Given the description of an element on the screen output the (x, y) to click on. 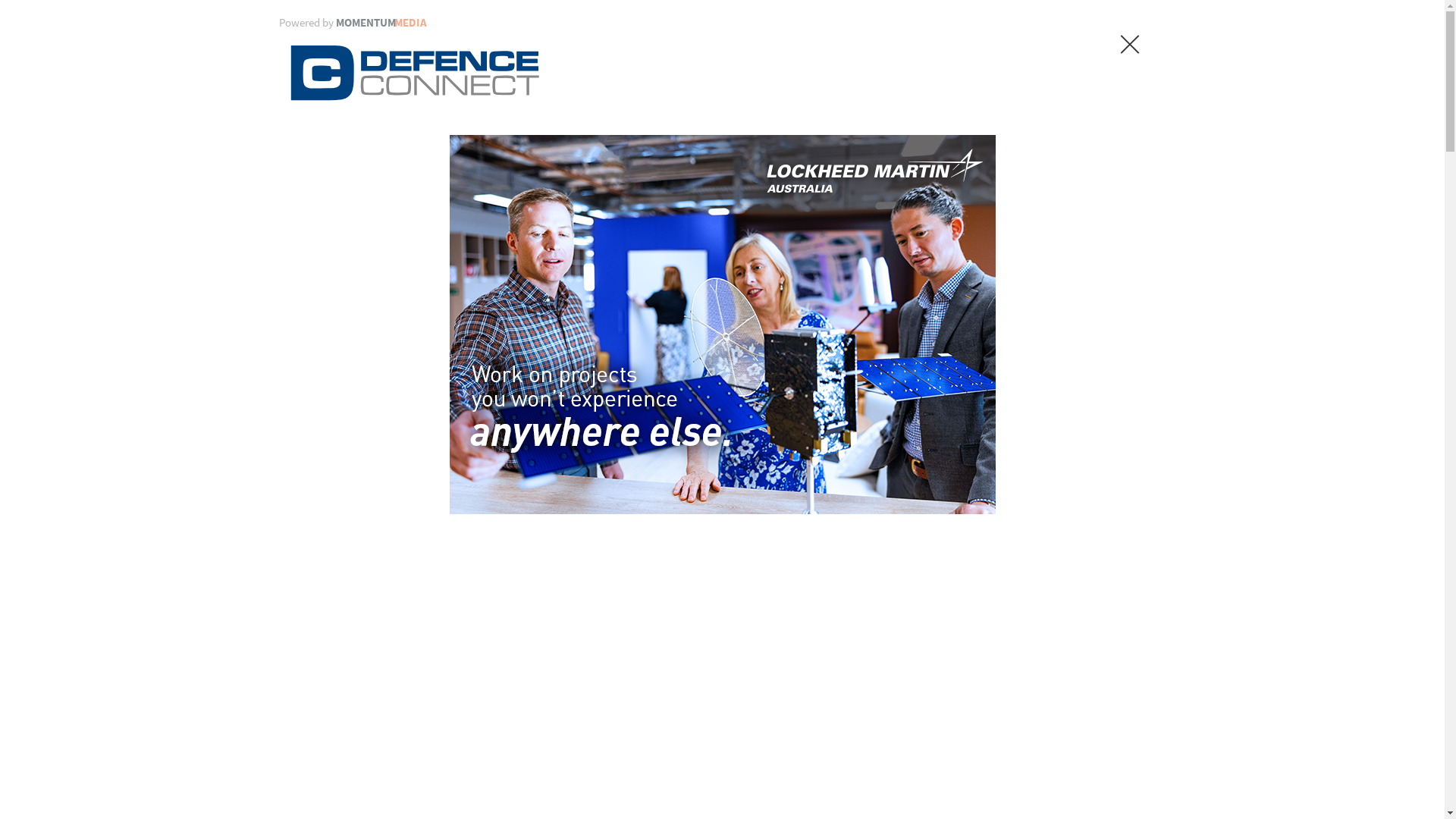
AIR Element type: text (435, 369)
Advertise Element type: text (992, 226)
Land & Amphibious Element type: text (365, 417)
GEOPOLITICS AND POLICY Element type: text (1044, 369)
News Element type: text (703, 324)
Events Element type: text (965, 324)
Become a free member Element type: text (752, 227)
POWERED BY MOMENTUM MEDIA Element type: text (354, 227)
FIND THE LATEST DEFENCE JOBS Element type: text (357, 253)
iscover Element type: text (1138, 324)
About Element type: text (939, 226)
NAVAL Element type: text (335, 369)
Live Streams Element type: text (1074, 324)
LAND Element type: text (532, 369)
Sign in Element type: text (875, 227)
Jobs Element type: text (924, 324)
Land Element type: text (437, 417)
Register for a free account Element type: text (574, 803)
Contact Element type: text (1054, 227)
Home Element type: text (292, 417)
Stephen Kuper Element type: text (430, 608)
Analysis Element type: text (747, 324)
INDUSTRY Element type: text (855, 369)
Special Editions Element type: text (864, 324)
Podcast Element type: text (1013, 324)
Careers Element type: text (797, 324)
JOINT-CAPABILITIES Element type: text (685, 369)
